Given the description of an element on the screen output the (x, y) to click on. 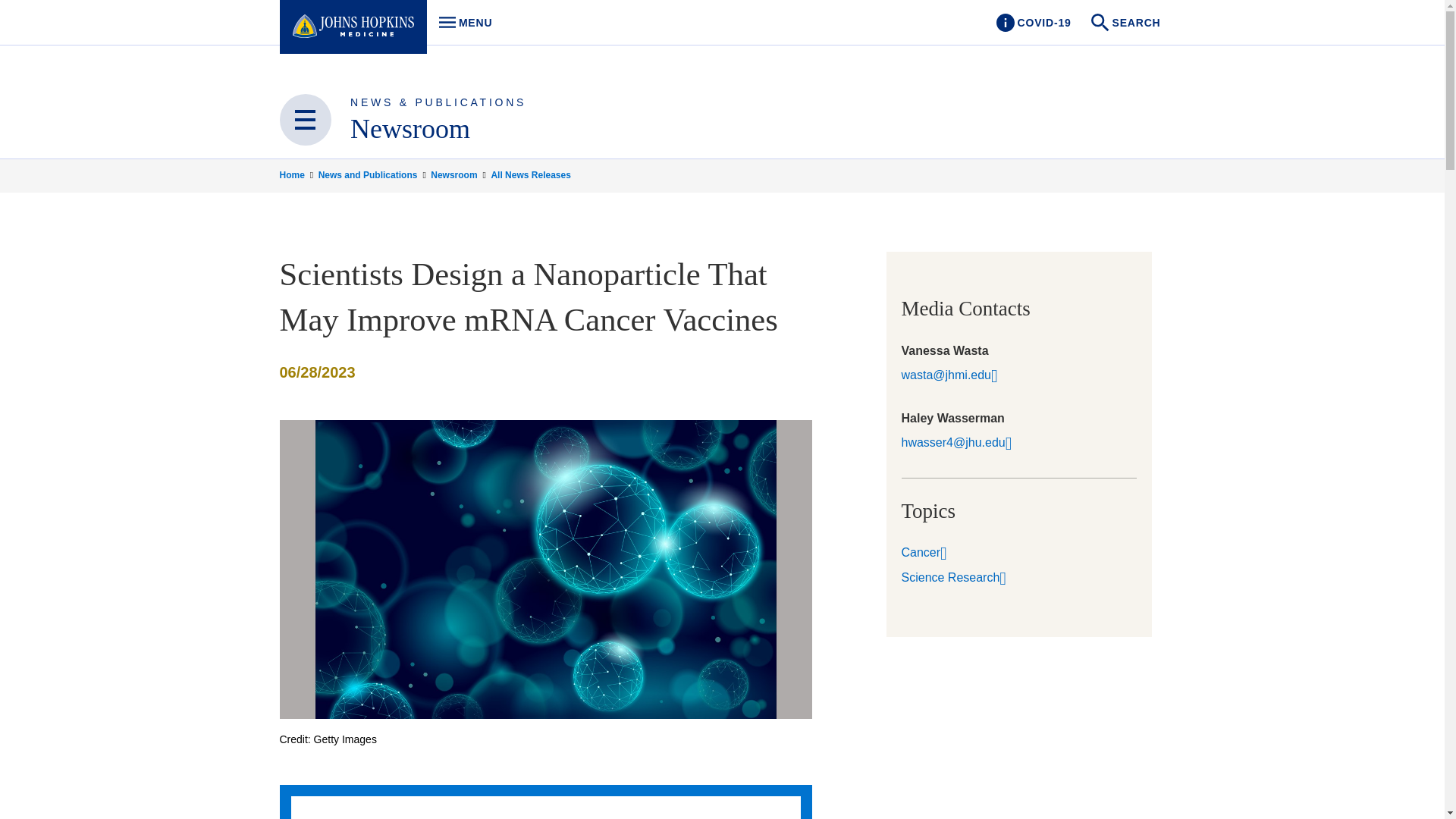
News and Publications (373, 174)
All News Releases (530, 174)
SEARCH (1126, 22)
Home (296, 174)
Close Main Menu (461, 22)
Newsroom (304, 119)
Newsroom (410, 128)
COVID-19 (458, 174)
